Given the description of an element on the screen output the (x, y) to click on. 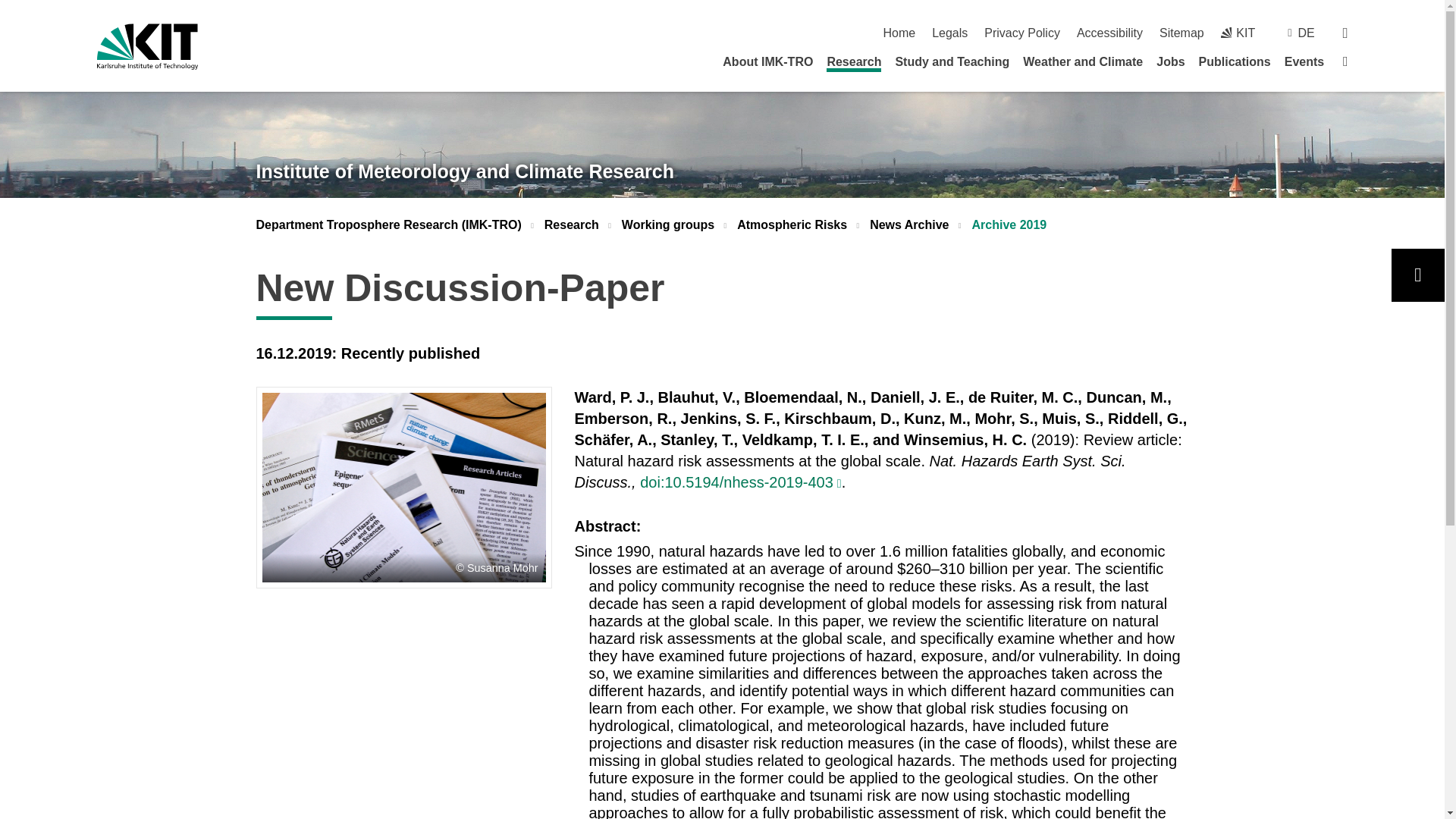
Sitemap (1181, 32)
KIT (1238, 32)
Research (853, 63)
About IMK-TRO (767, 61)
KIT-Homepage (1238, 32)
Privacy Policy (1021, 32)
Legals (949, 32)
Institute of Meteorology and Climate Research (465, 171)
KIT-Homepage (147, 46)
startpage (898, 32)
DE (1305, 32)
Accessibility (1109, 32)
Home (898, 32)
